Given the description of an element on the screen output the (x, y) to click on. 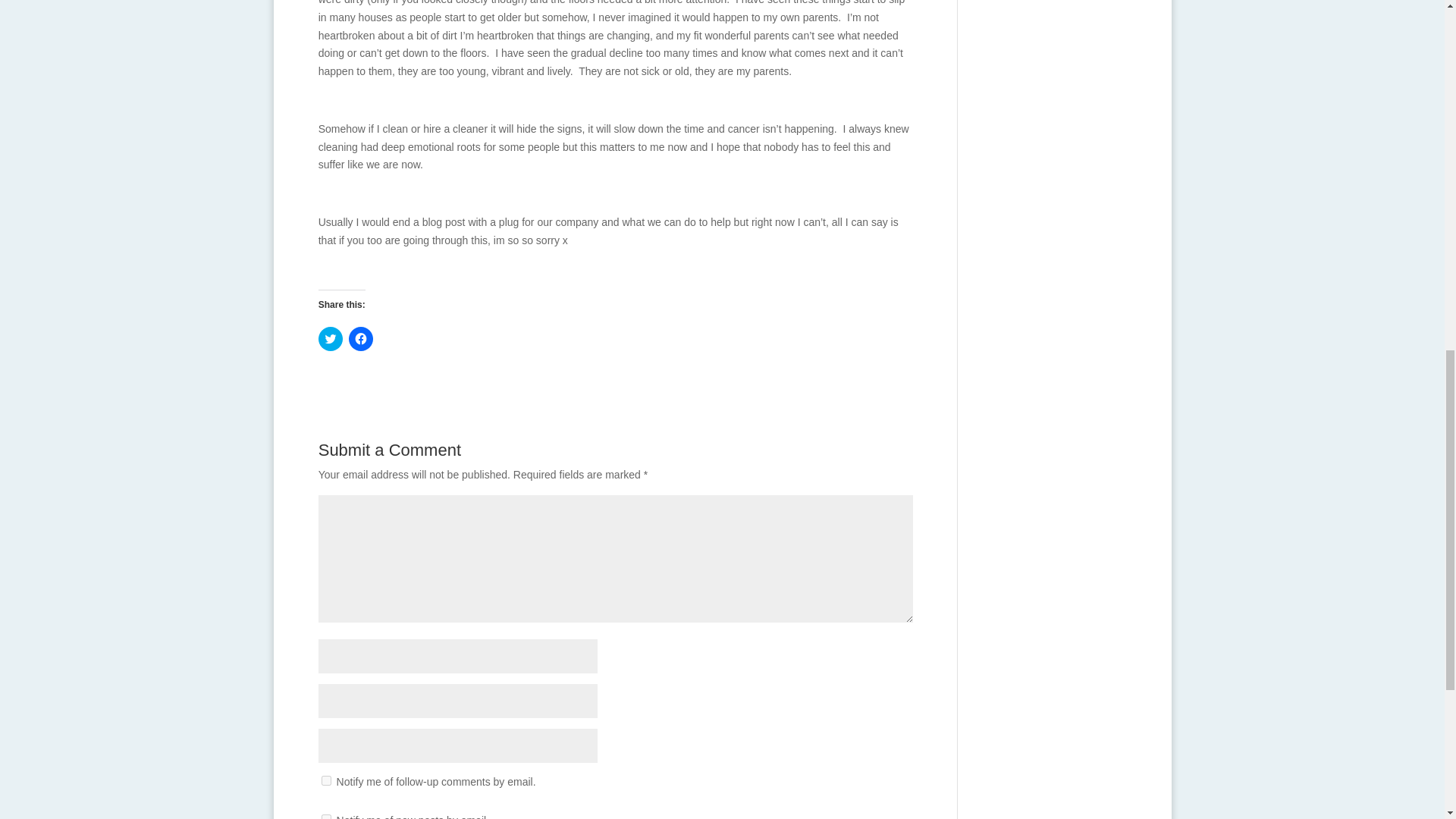
Click to share on Twitter (330, 338)
subscribe (326, 816)
subscribe (326, 780)
Click to share on Facebook (360, 338)
